Given the description of an element on the screen output the (x, y) to click on. 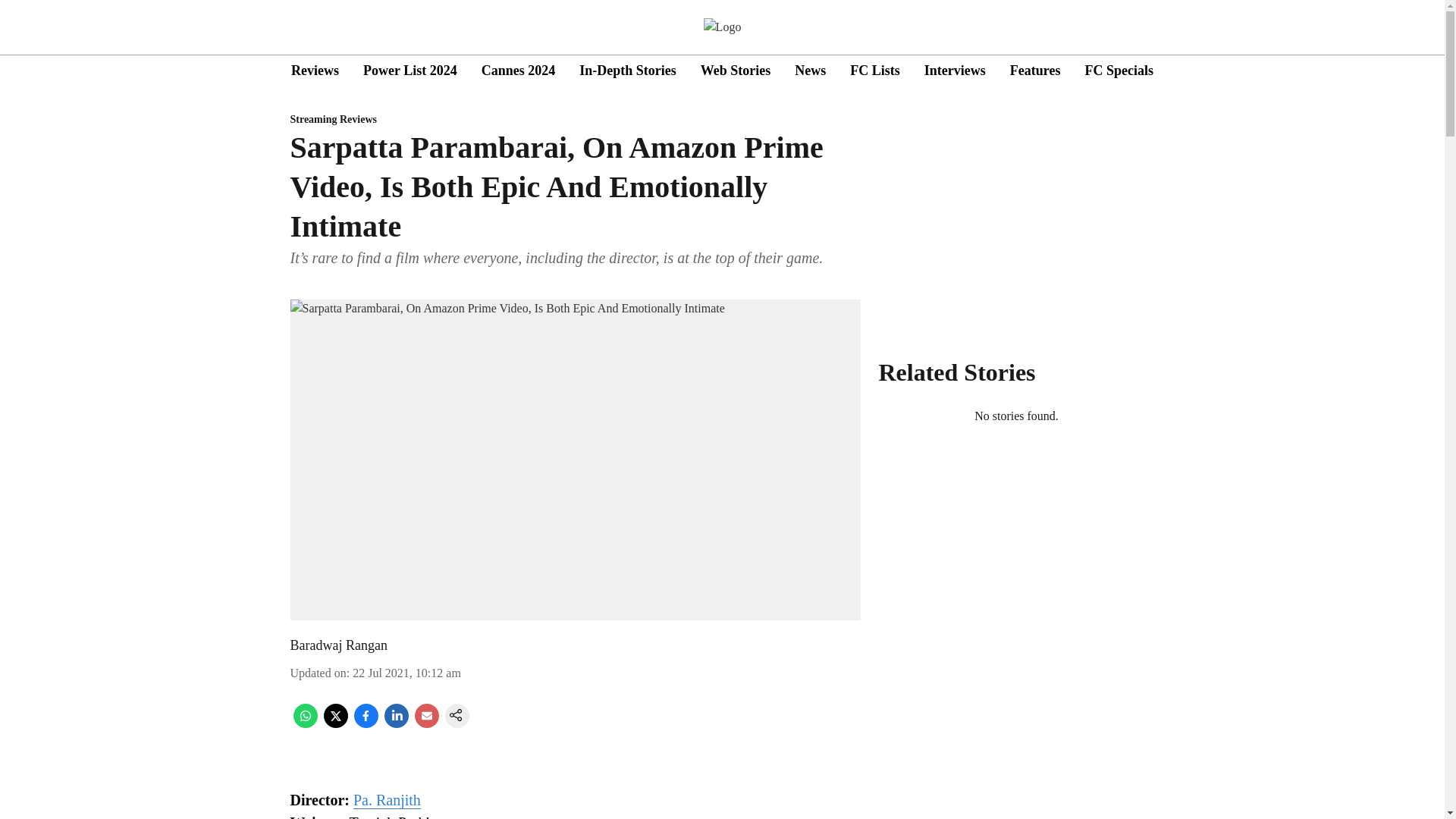
Cannes 2024 (518, 70)
Web Stories (735, 70)
Power List 2024 (409, 70)
News (809, 70)
Interviews (954, 70)
Reviews (315, 70)
In-Depth Stories (628, 70)
Baradwaj Rangan (338, 645)
Streaming Reviews (574, 119)
